Given the description of an element on the screen output the (x, y) to click on. 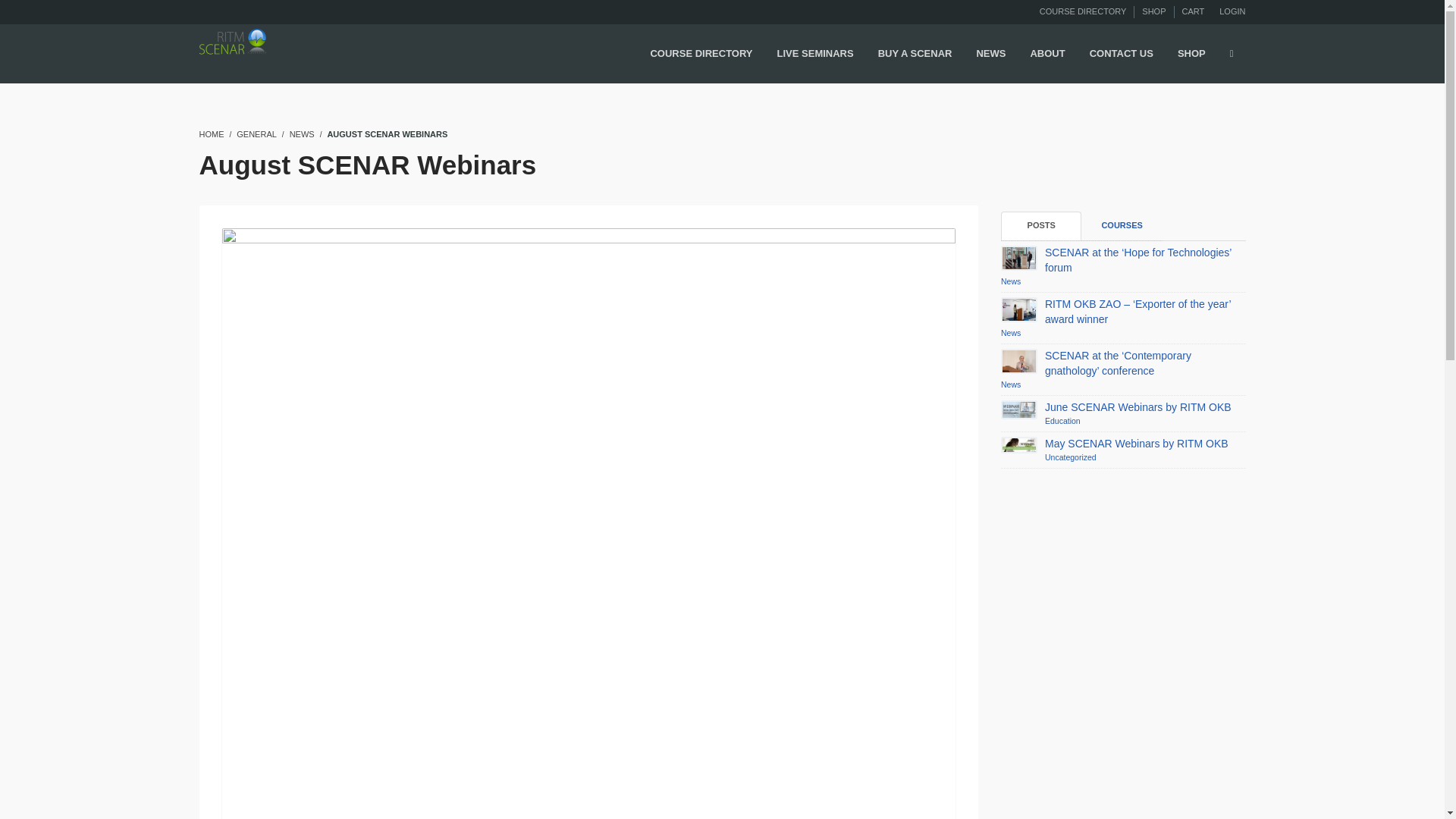
POSTS (1041, 225)
SHOP (1153, 10)
BUY A SCENAR (914, 54)
NEWS (301, 133)
June SCENAR Webinars by RITM OKB (1138, 407)
May SCENAR Webinars by RITM OKB (1136, 443)
COURSE DIRECTORY (1082, 10)
GENERAL (255, 133)
COURSES (1121, 225)
LIVE SEMINARS (816, 54)
CONTACT US (1120, 54)
CART (1192, 10)
COURSE DIRECTORY (701, 54)
LOGIN (1232, 10)
HOME (211, 133)
